Given the description of an element on the screen output the (x, y) to click on. 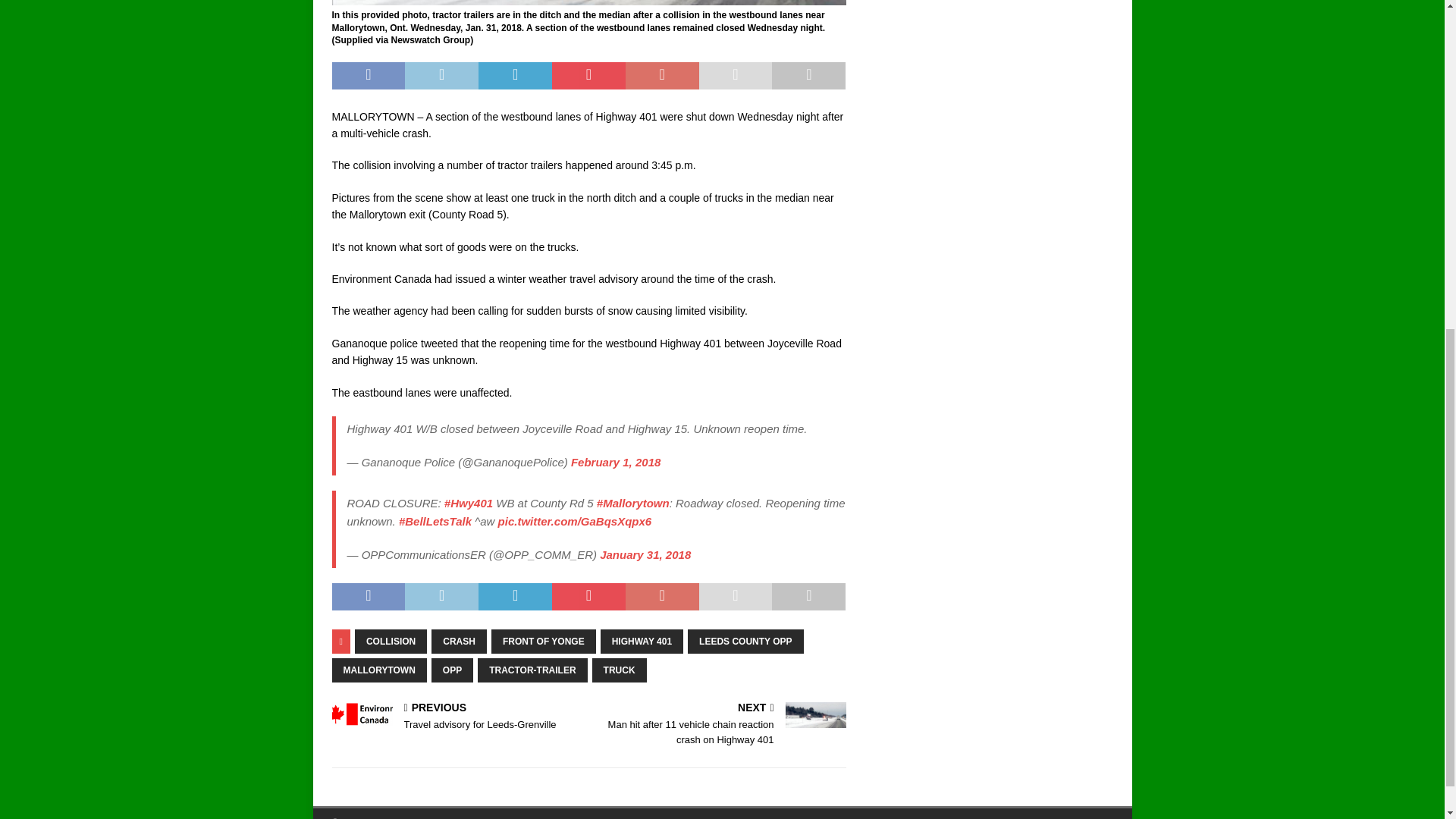
January 31, 2018 (644, 554)
February 1, 2018 (615, 461)
